Given the description of an element on the screen output the (x, y) to click on. 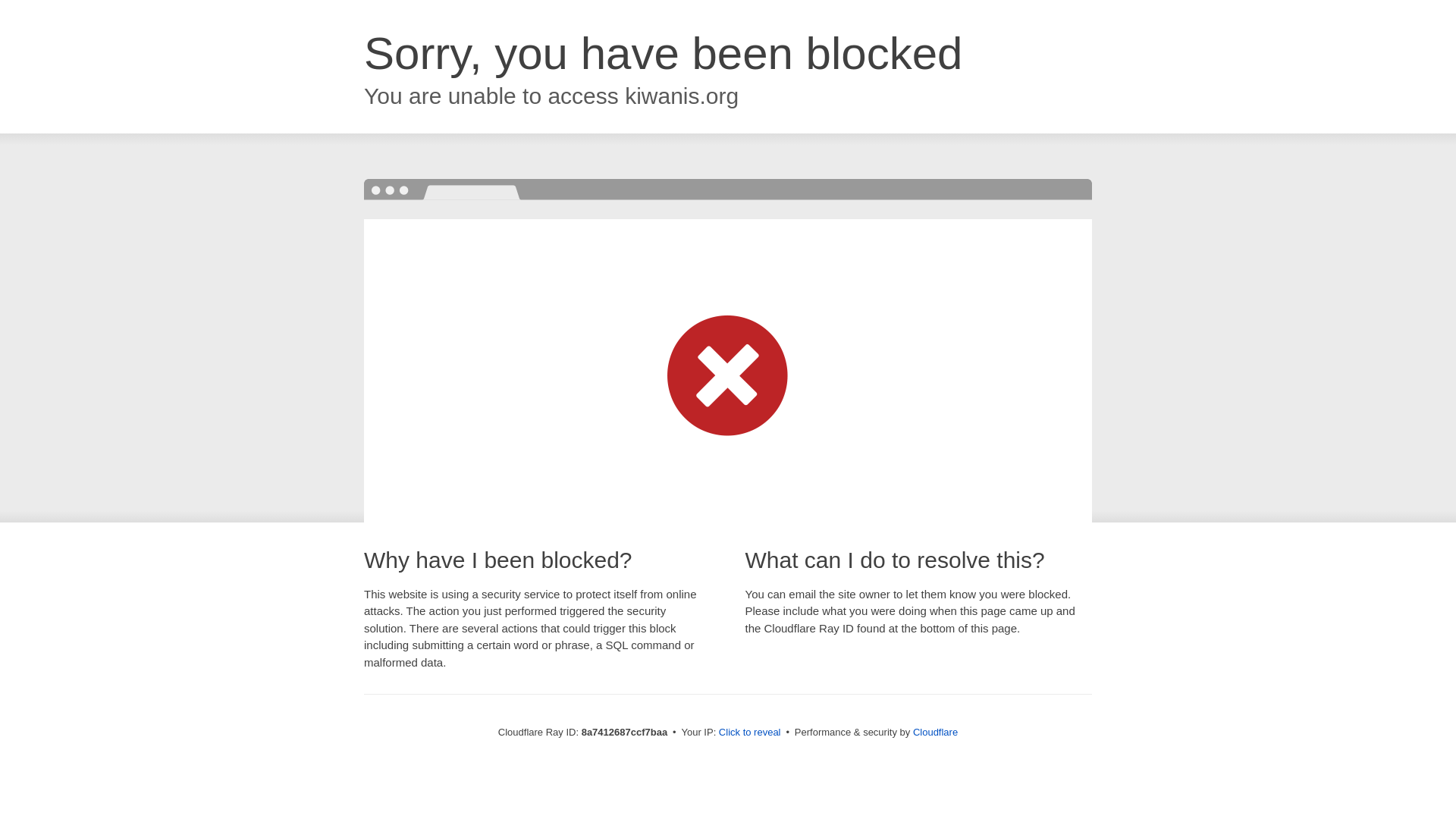
Click to reveal (749, 732)
Cloudflare (935, 731)
